Given the description of an element on the screen output the (x, y) to click on. 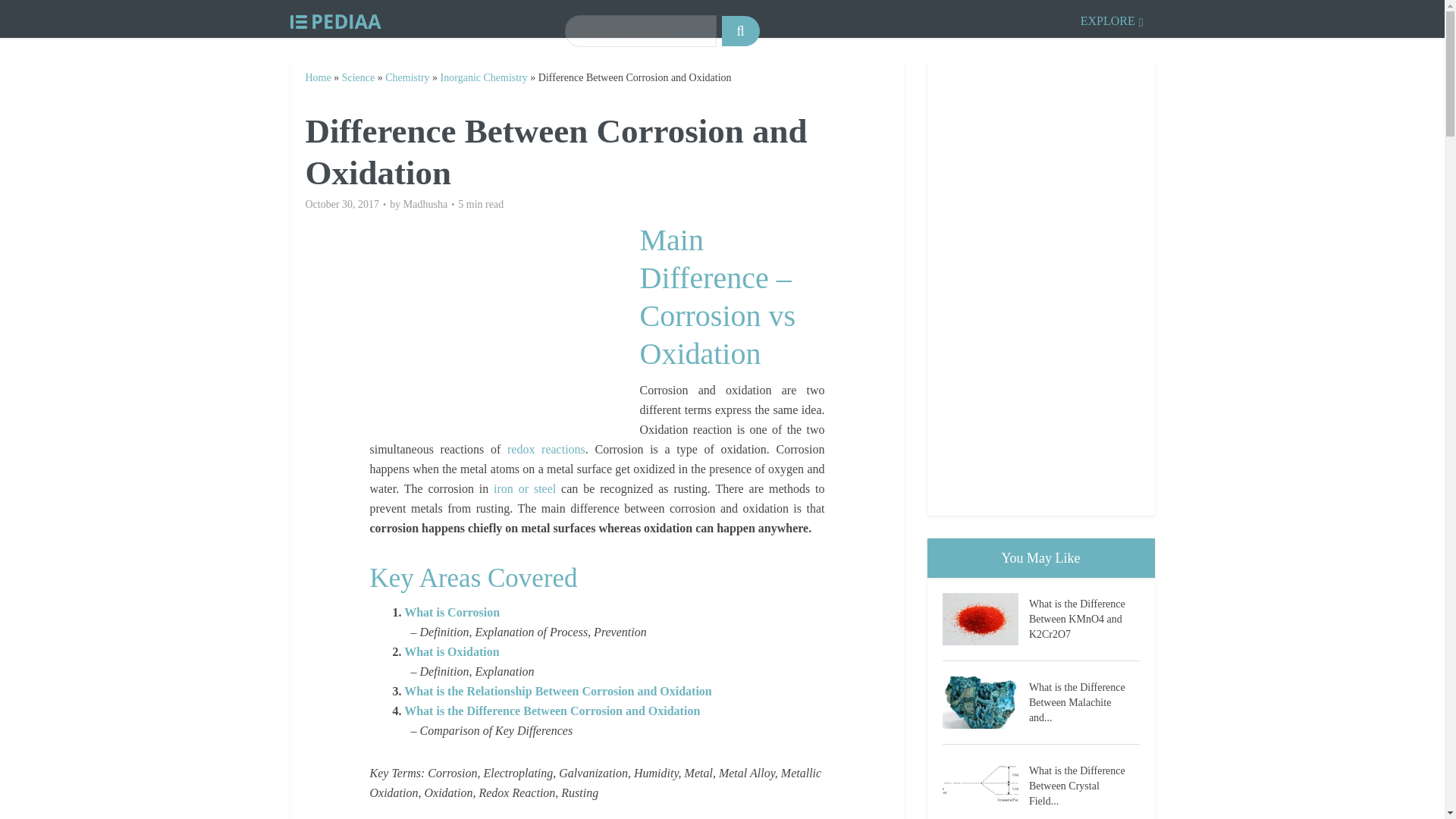
What is the Difference Between Corrosion and Oxidation (552, 710)
EXPLORE (1111, 18)
Chemistry (407, 77)
iron or steel (524, 488)
What is Corrosion (451, 612)
Home (317, 77)
What is Oxidation (451, 651)
Inorganic Chemistry (484, 77)
What is the Difference Between KMnO4 and K2Cr2O7 (984, 618)
Madhusha (424, 204)
What is the Difference Between KMnO4 and K2Cr2O7 (1084, 617)
Science (358, 77)
Type here to search... (640, 30)
